Given the description of an element on the screen output the (x, y) to click on. 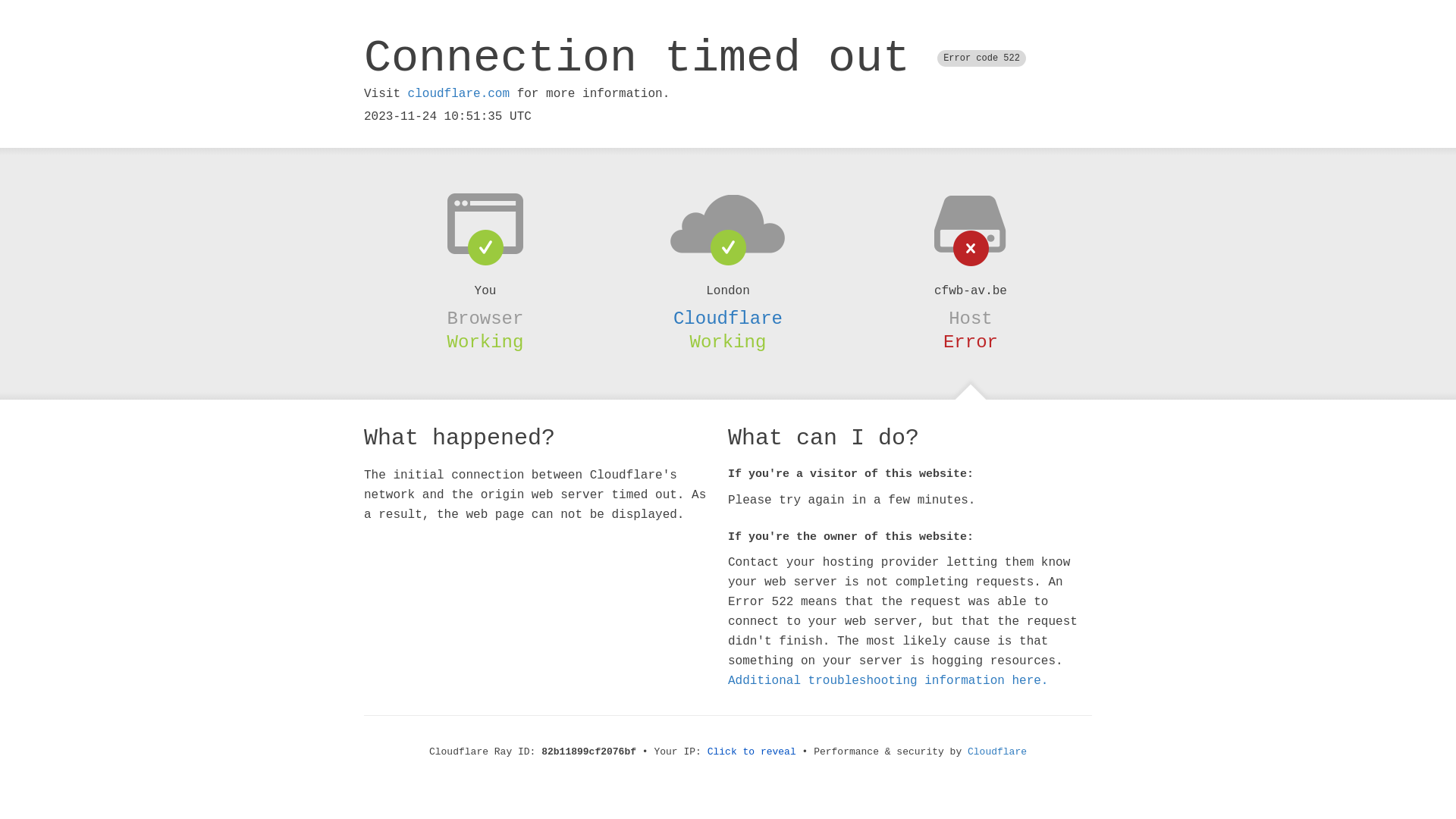
Cloudflare Element type: text (727, 318)
Click to reveal Element type: text (751, 751)
Additional troubleshooting information here. Element type: text (888, 680)
cloudflare.com Element type: text (458, 93)
Cloudflare Element type: text (996, 751)
